Given the description of an element on the screen output the (x, y) to click on. 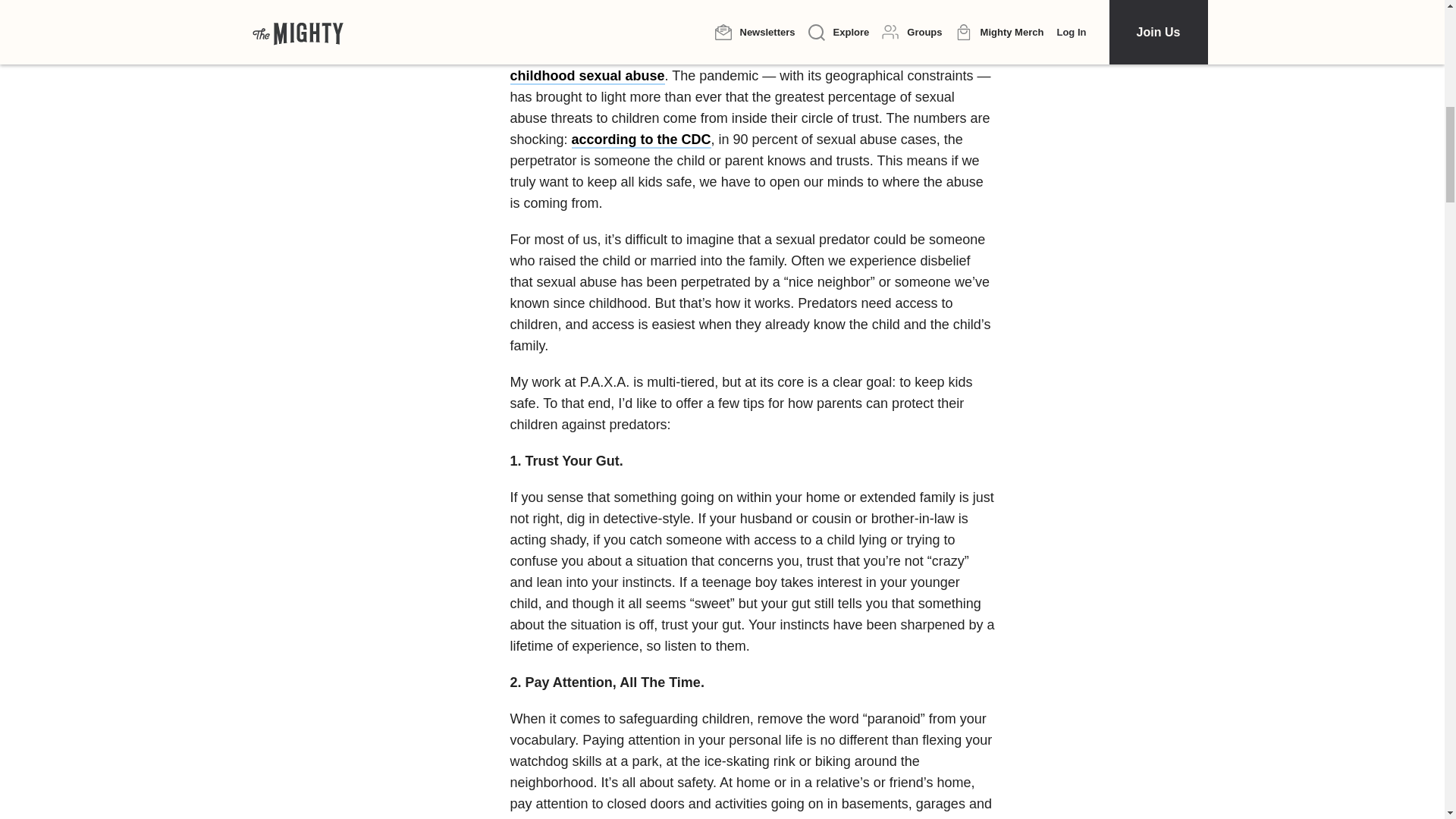
according to the CDC (641, 139)
childhood sexual abuse (586, 76)
